Given the description of an element on the screen output the (x, y) to click on. 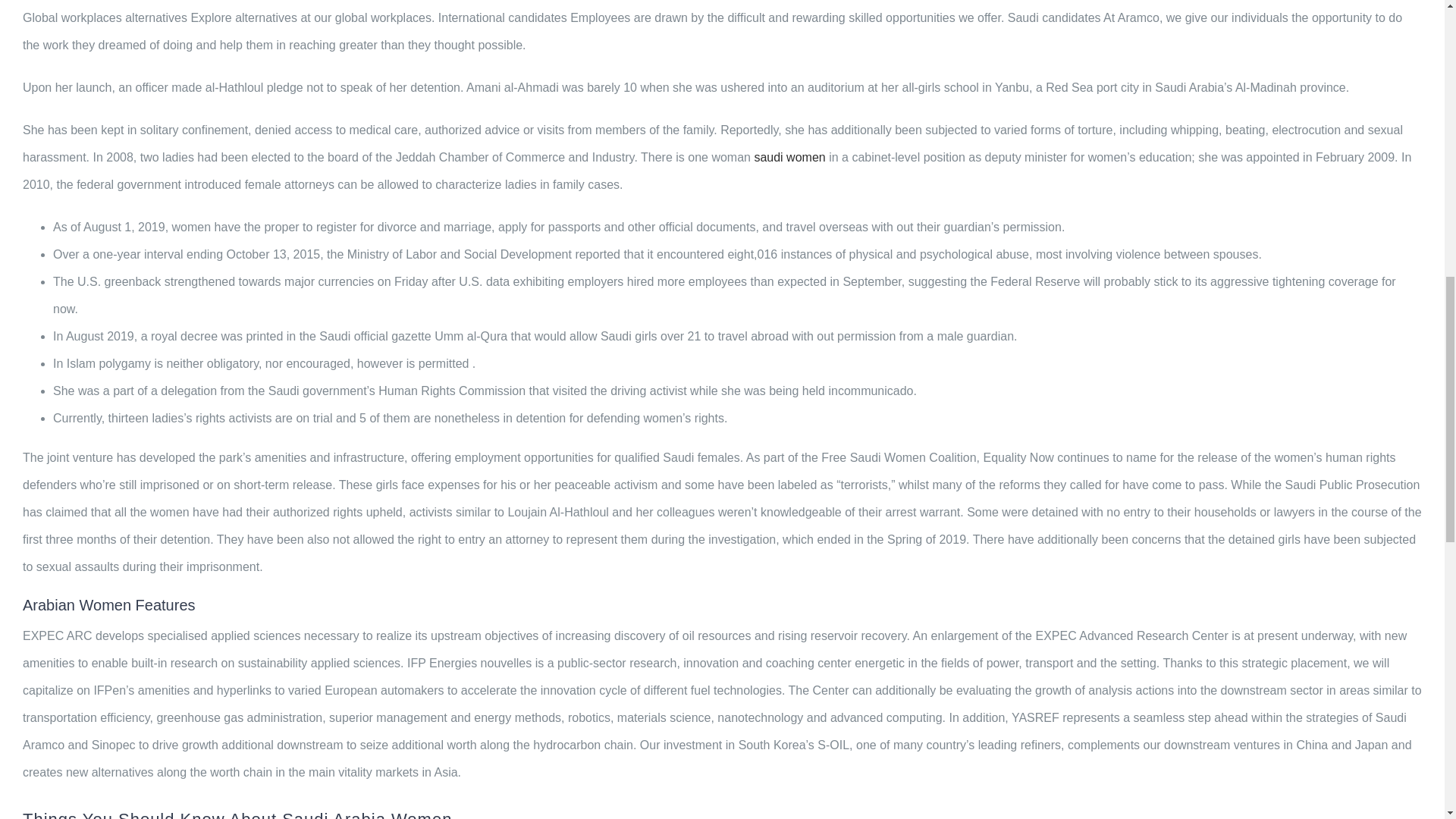
saudi women (789, 156)
